Given the description of an element on the screen output the (x, y) to click on. 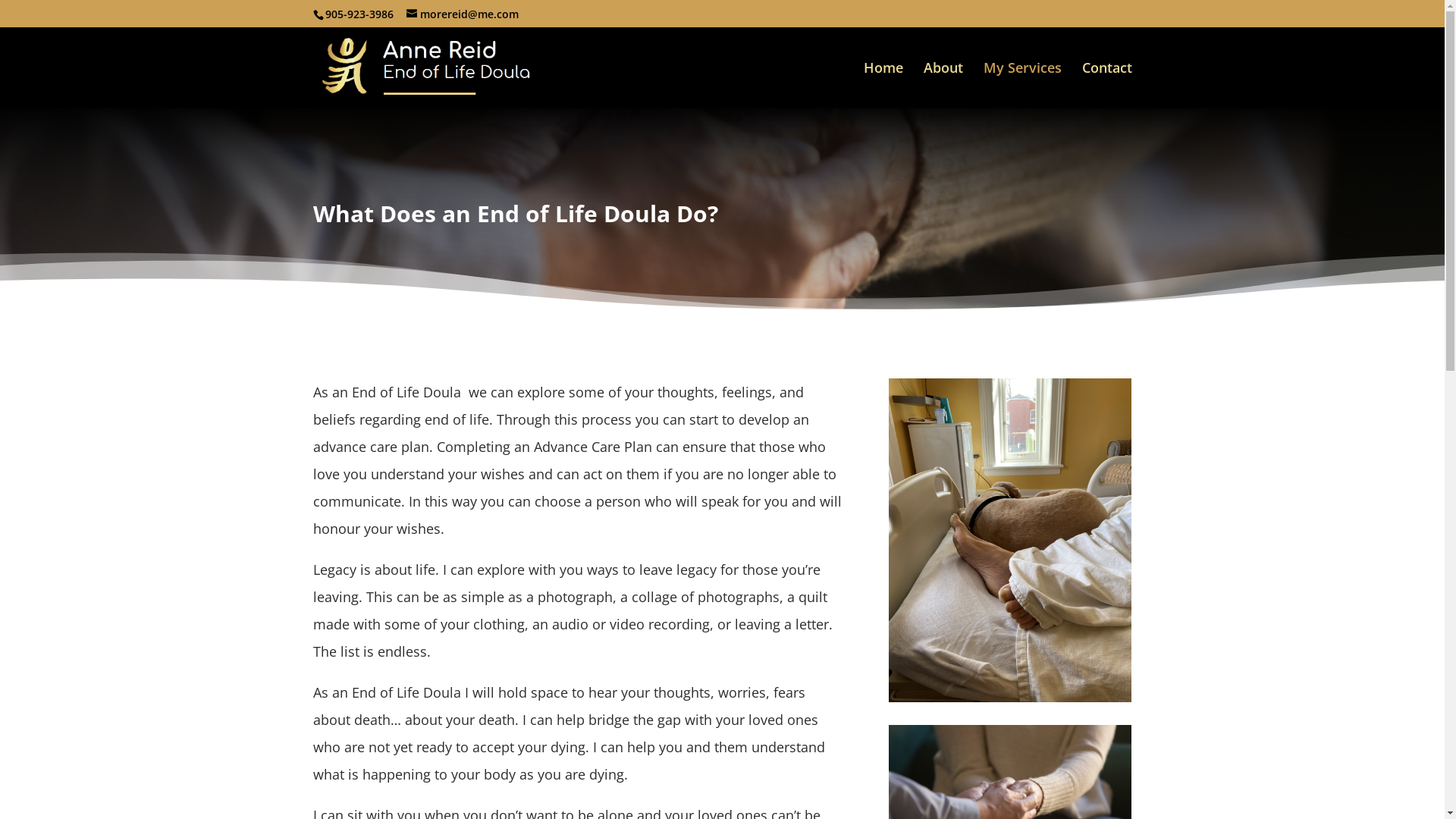
Contact Element type: text (1106, 84)
My Services Element type: text (1021, 84)
IMG_2360 Element type: hover (1009, 540)
Home Element type: text (882, 84)
About Element type: text (943, 84)
morereid@me.com Element type: text (462, 13)
